Given the description of an element on the screen output the (x, y) to click on. 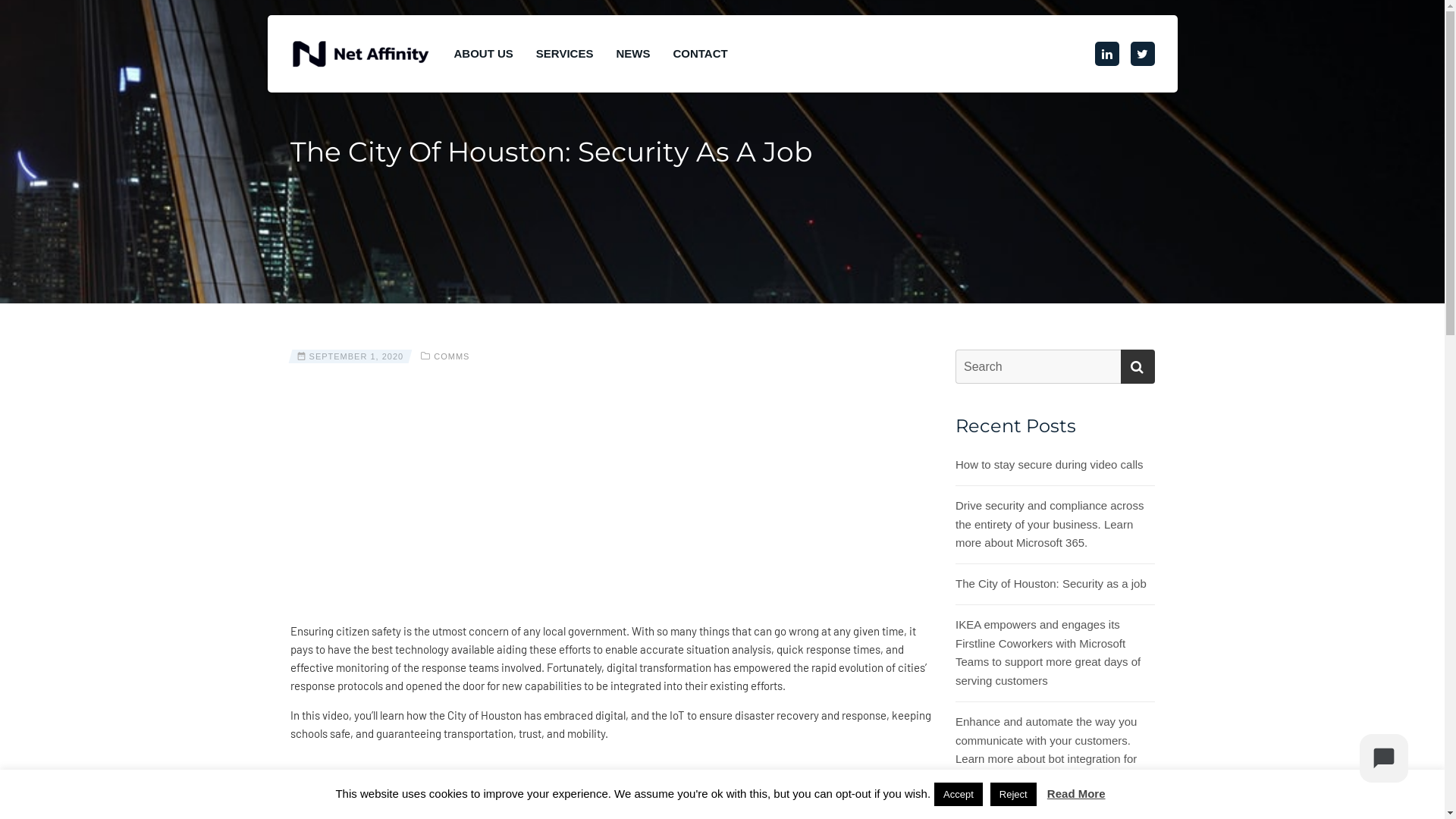
SERVICES Element type: text (564, 53)
ABOUT US Element type: text (482, 53)
Accept Element type: text (958, 794)
NEWS Element type: text (632, 53)
COMMS Element type: text (451, 355)
How to stay secure during video calls Element type: text (1049, 464)
Reject Element type: text (1013, 794)
Chatbot Element type: hover (1383, 757)
CONTACT Element type: text (699, 53)
The City of Houston: Security as a job Element type: text (1050, 583)
Read More Element type: text (1076, 793)
